Given the description of an element on the screen output the (x, y) to click on. 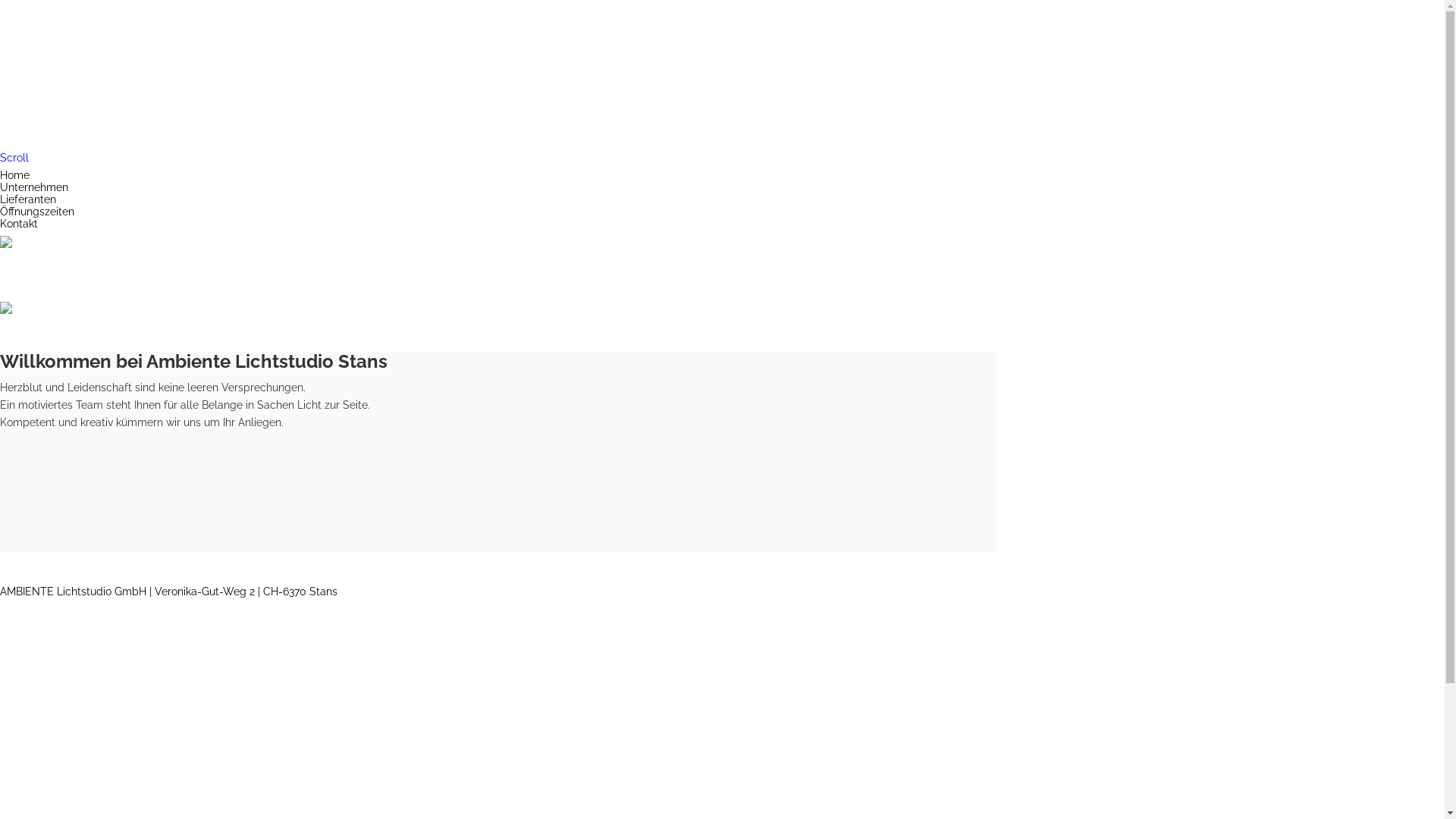
Home Element type: text (14, 175)
Scroll Element type: text (14, 157)
Kontakt Element type: text (18, 223)
Unternehmen Element type: text (34, 187)
Lieferanten Element type: text (28, 199)
